Given the description of an element on the screen output the (x, y) to click on. 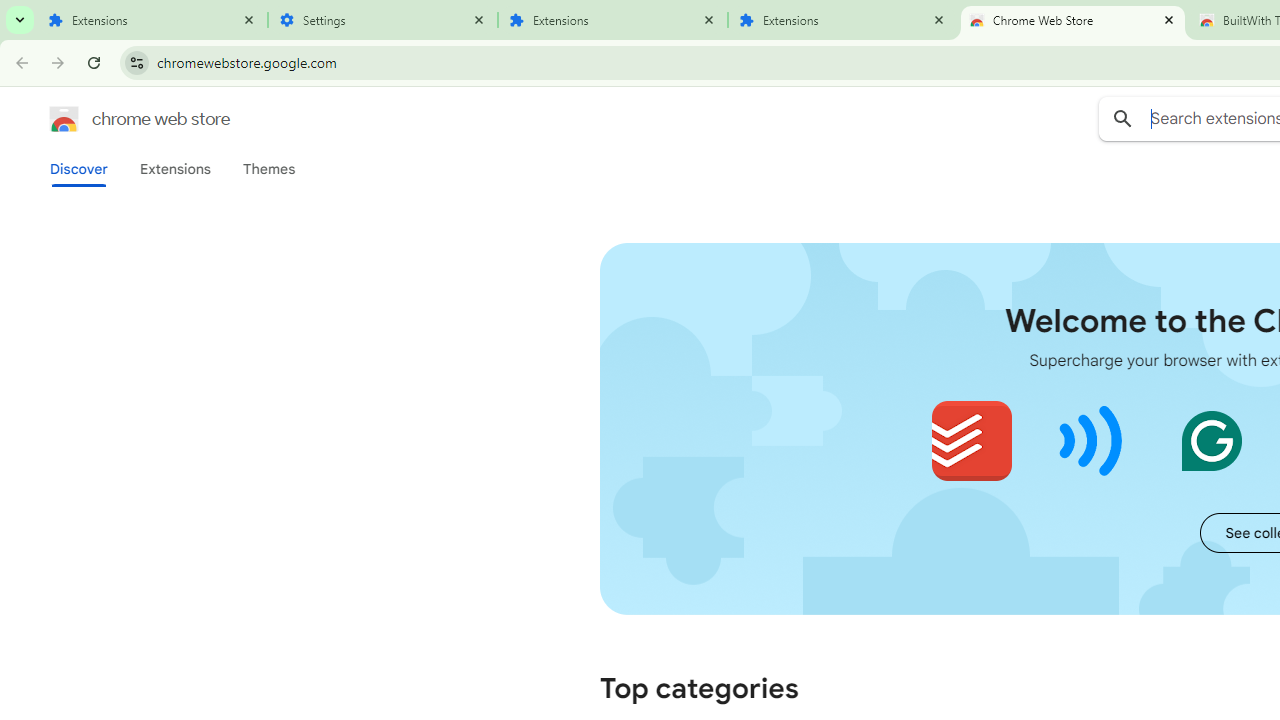
Settings (382, 20)
Grammarly: AI Writing and Grammar Checker App (1211, 440)
Extensions (174, 169)
Extensions (152, 20)
Todoist for Chrome (971, 440)
Discover (79, 169)
Chrome Web Store logo (63, 118)
Themes (269, 169)
Extensions (842, 20)
Extensions (612, 20)
Chrome Web Store logo chrome web store (118, 118)
